Given the description of an element on the screen output the (x, y) to click on. 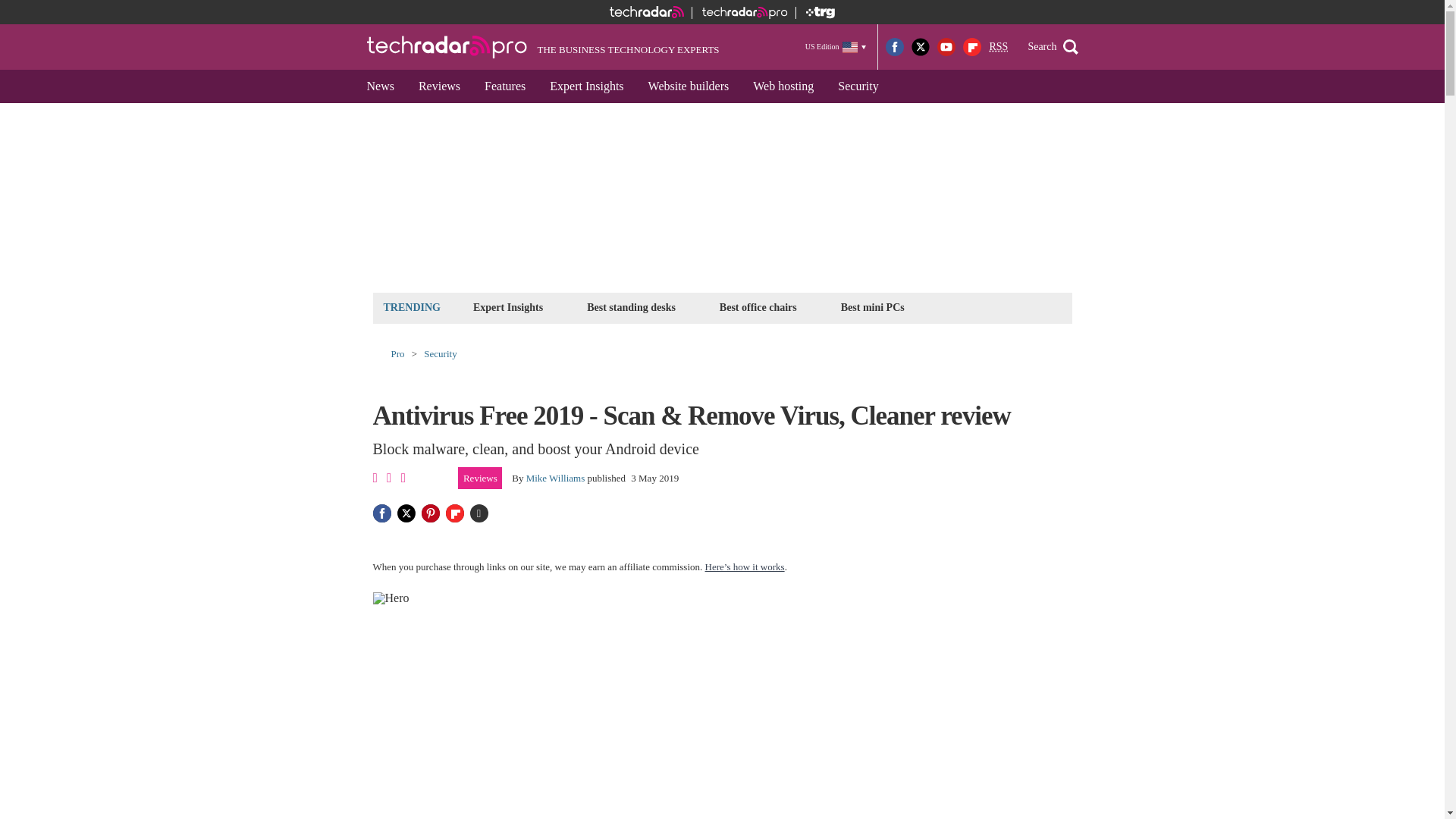
Best office chairs (758, 307)
THE BUSINESS TECHNOLOGY EXPERTS (542, 46)
RSS (997, 46)
Security (857, 86)
US Edition (836, 46)
News (380, 86)
Reviews (438, 86)
Web hosting (783, 86)
Features (504, 86)
Website builders (688, 86)
Really Simple Syndication (997, 46)
Expert Insights (507, 307)
Best standing desks (630, 307)
Expert Insights (585, 86)
